Given the description of an element on the screen output the (x, y) to click on. 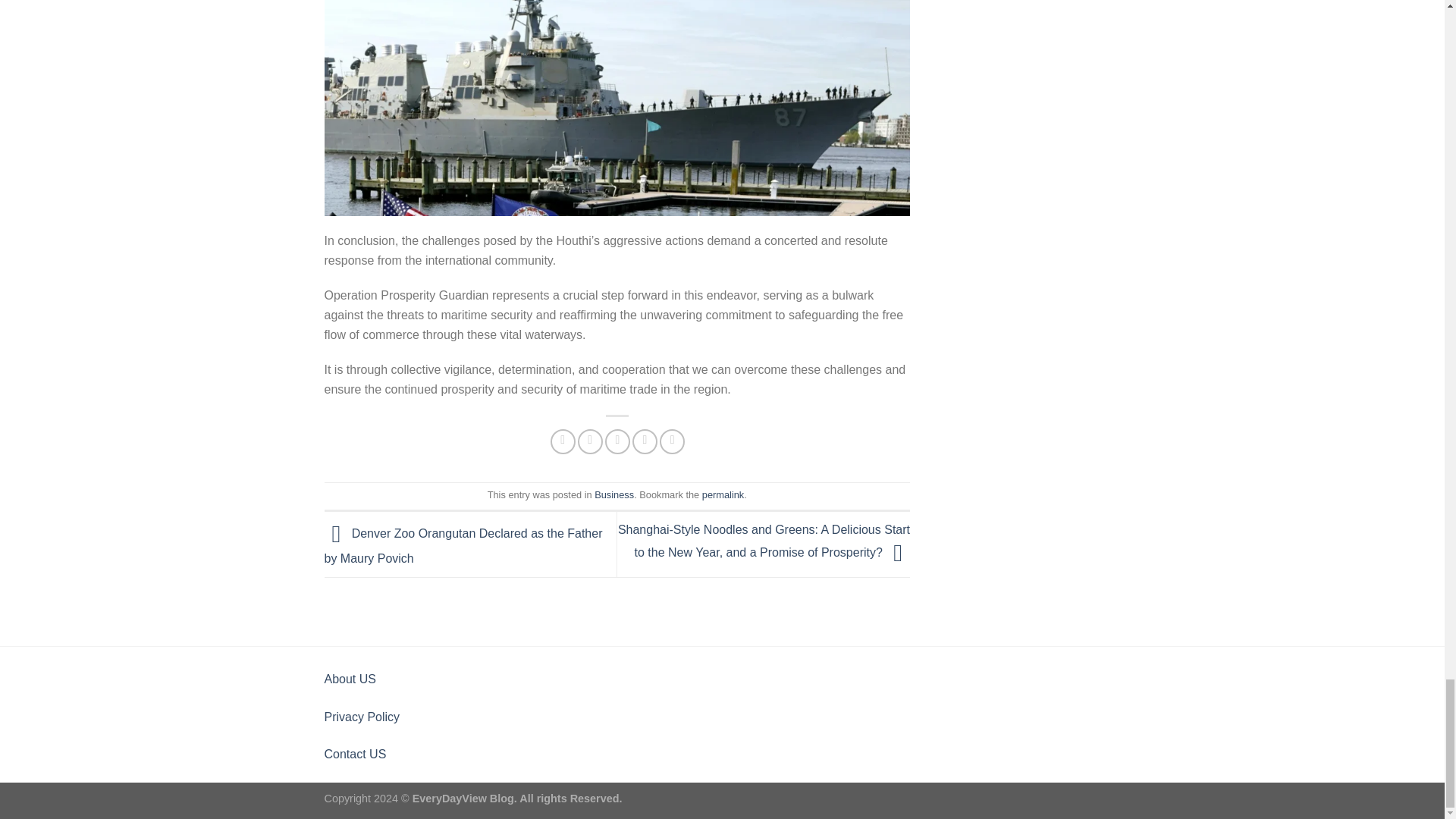
Share on Facebook (562, 441)
Business (613, 494)
Share on LinkedIn (671, 441)
Contact US (355, 753)
Email to a Friend (617, 441)
permalink (722, 494)
Denver Zoo Orangutan Declared as the Father by Maury Povich (463, 546)
Privacy Policy (362, 716)
Pin on Pinterest (644, 441)
